Given the description of an element on the screen output the (x, y) to click on. 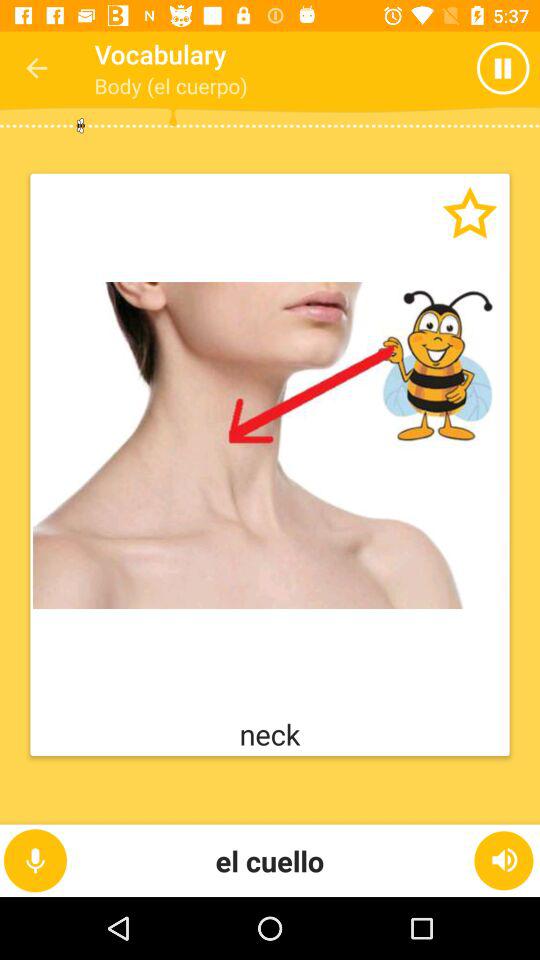
choose the icon next to the body (el cuerpo) (508, 67)
